Given the description of an element on the screen output the (x, y) to click on. 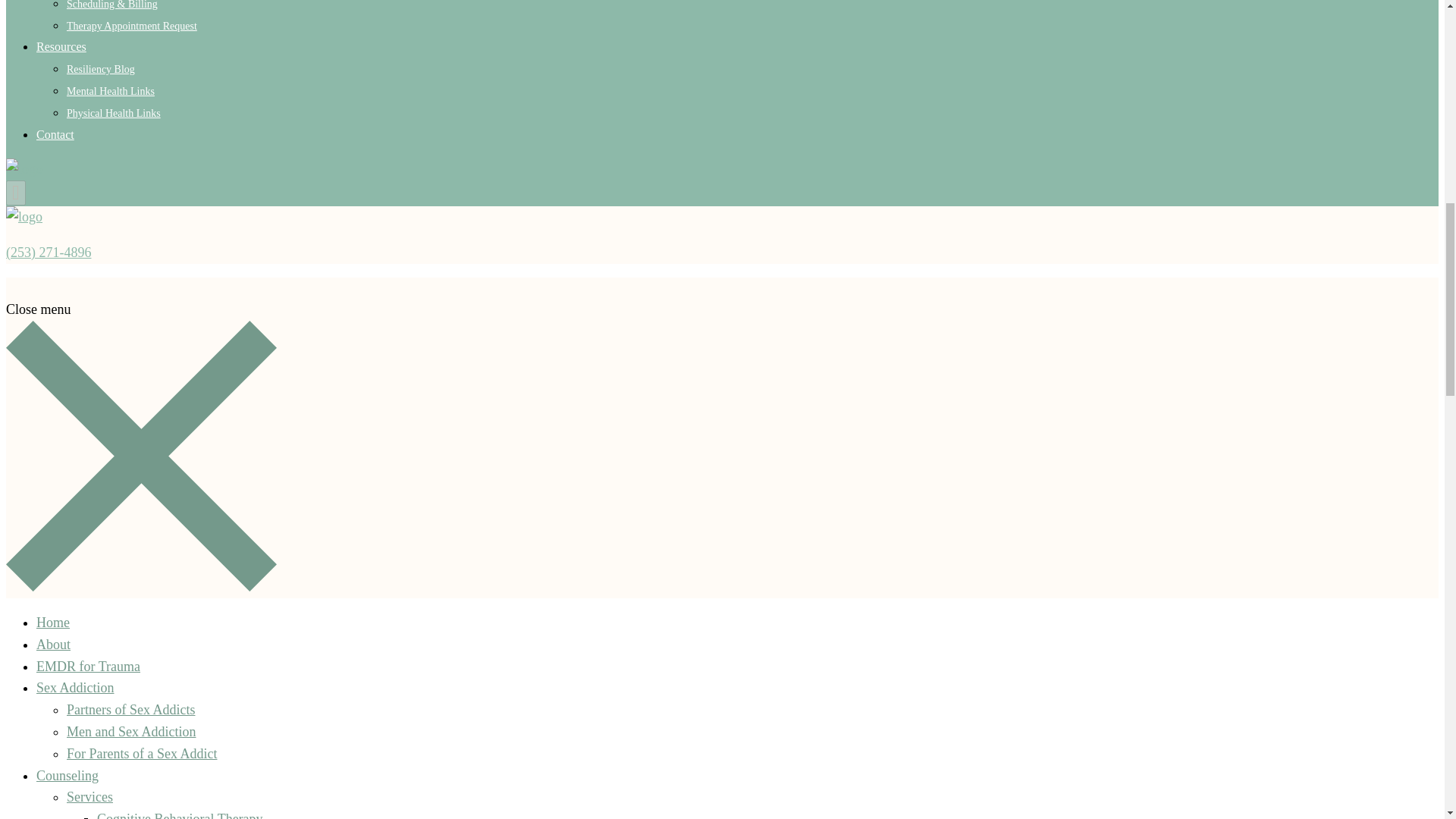
Resources (60, 46)
Therapy Appointment Request (131, 25)
